Given the description of an element on the screen output the (x, y) to click on. 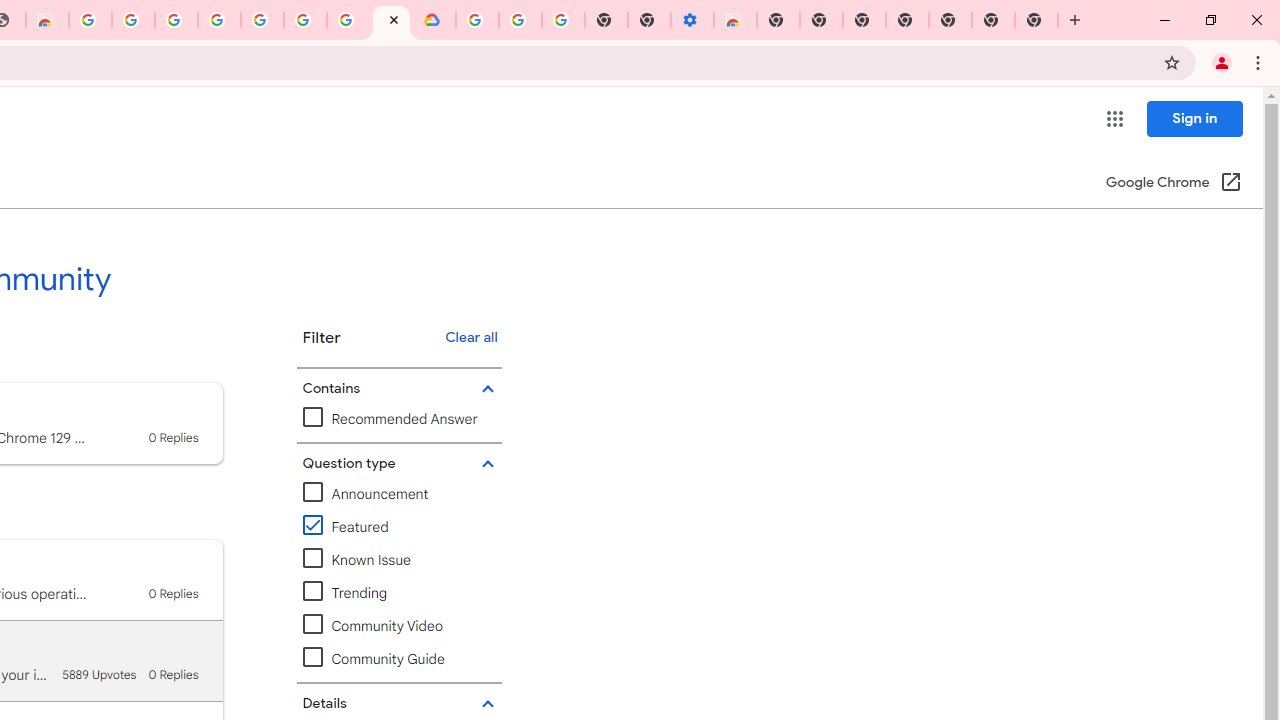
Browse the Google Chrome Community - Google Chrome Community (391, 20)
Ad Settings (176, 20)
Turn cookies on or off - Computer - Google Account Help (562, 20)
Featured (345, 527)
New Tab (1036, 20)
Community Guide (399, 659)
